Given the description of an element on the screen output the (x, y) to click on. 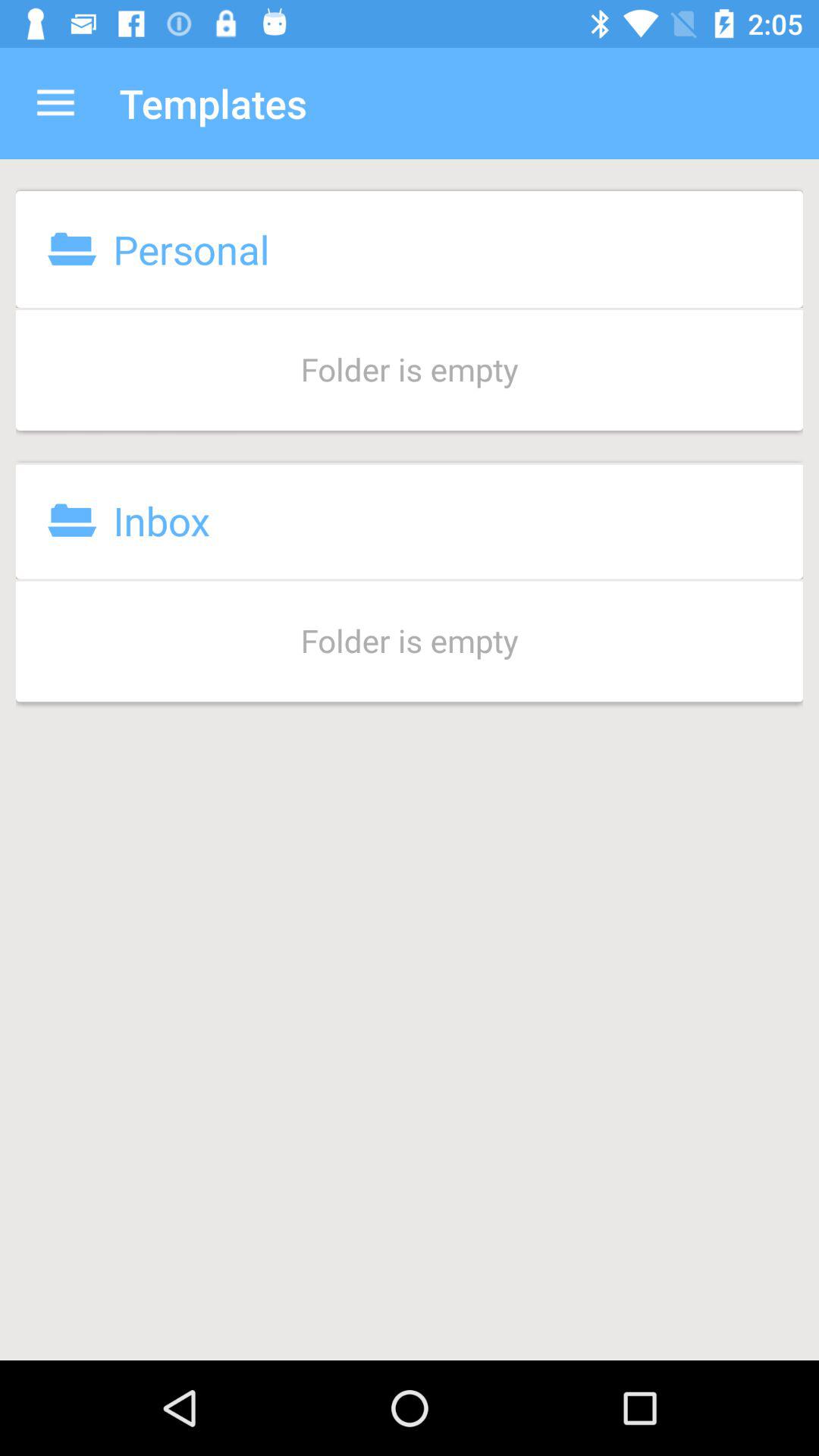
tap icon above the personal (55, 103)
